Given the description of an element on the screen output the (x, y) to click on. 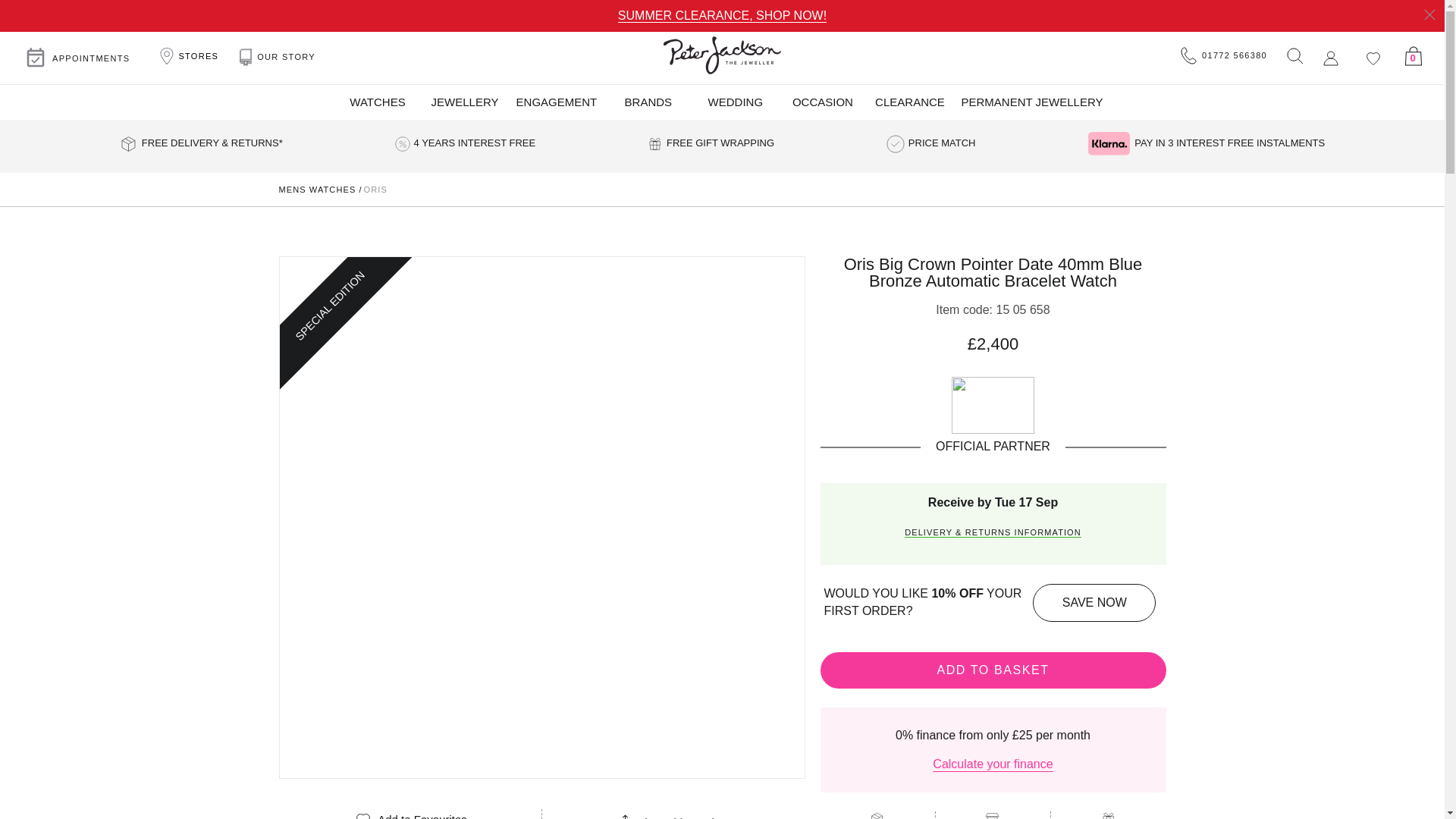
SUMMER CLEARANCE, SHOP NOW! (722, 15)
SEARCH (1294, 55)
ACCOUNT (1330, 58)
STORES (186, 55)
WATCHES (376, 102)
01772 566380 (1223, 56)
OUR STORY (277, 57)
APPOINTMENTS (76, 57)
